Given the description of an element on the screen output the (x, y) to click on. 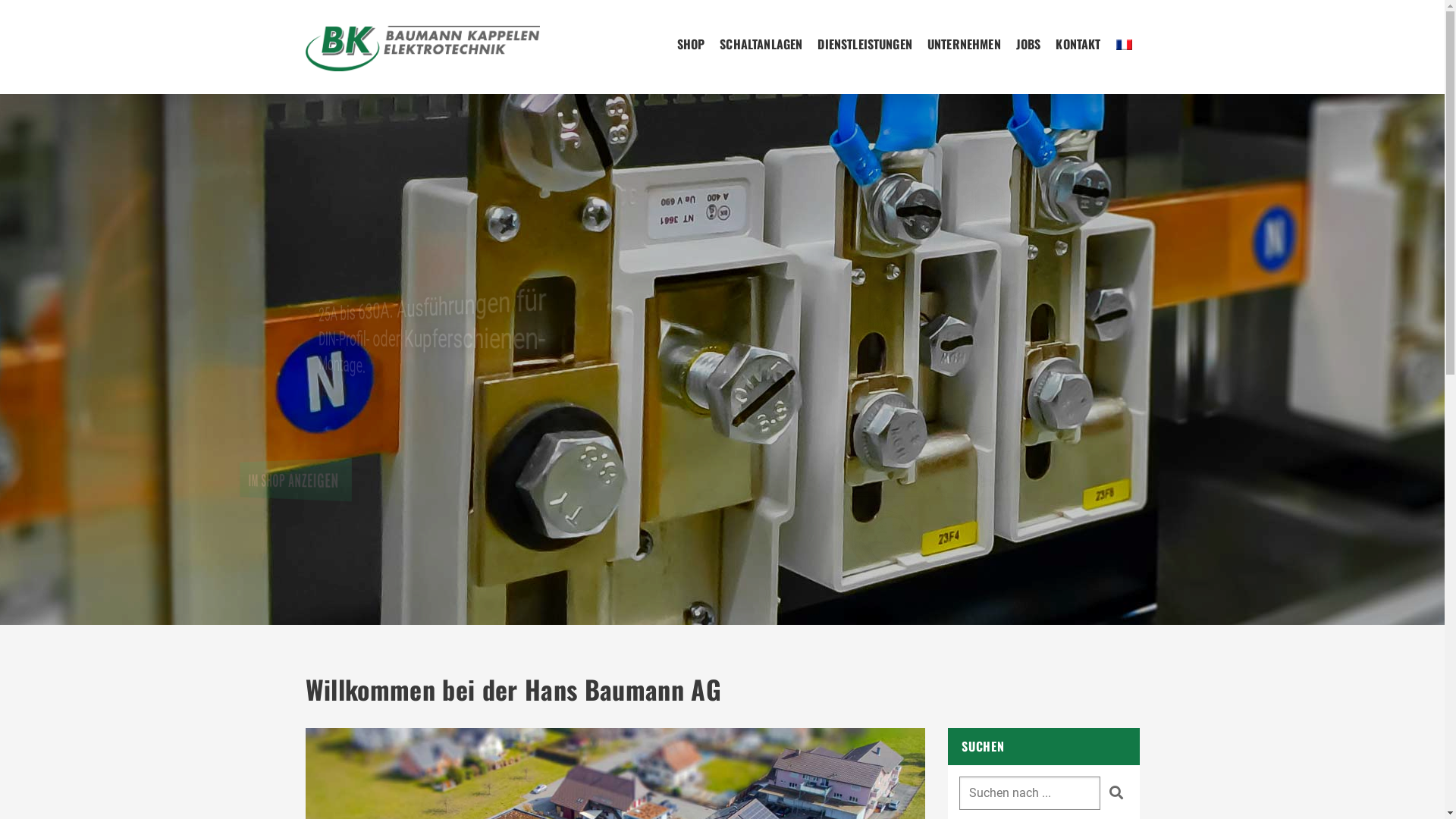
IM SHOP ANZEIGEN Element type: text (382, 524)
JOBS Element type: text (1028, 43)
DIENSTLEISTUNGEN Element type: text (864, 43)
Suchen Element type: hover (1115, 792)
KONTAKT Element type: text (1077, 43)
UNTERNEHMEN Element type: text (963, 43)
SHOP Element type: text (690, 43)
SCHALTANLAGEN Element type: text (760, 43)
Suchbegriff Element type: hover (1029, 792)
